Given the description of an element on the screen output the (x, y) to click on. 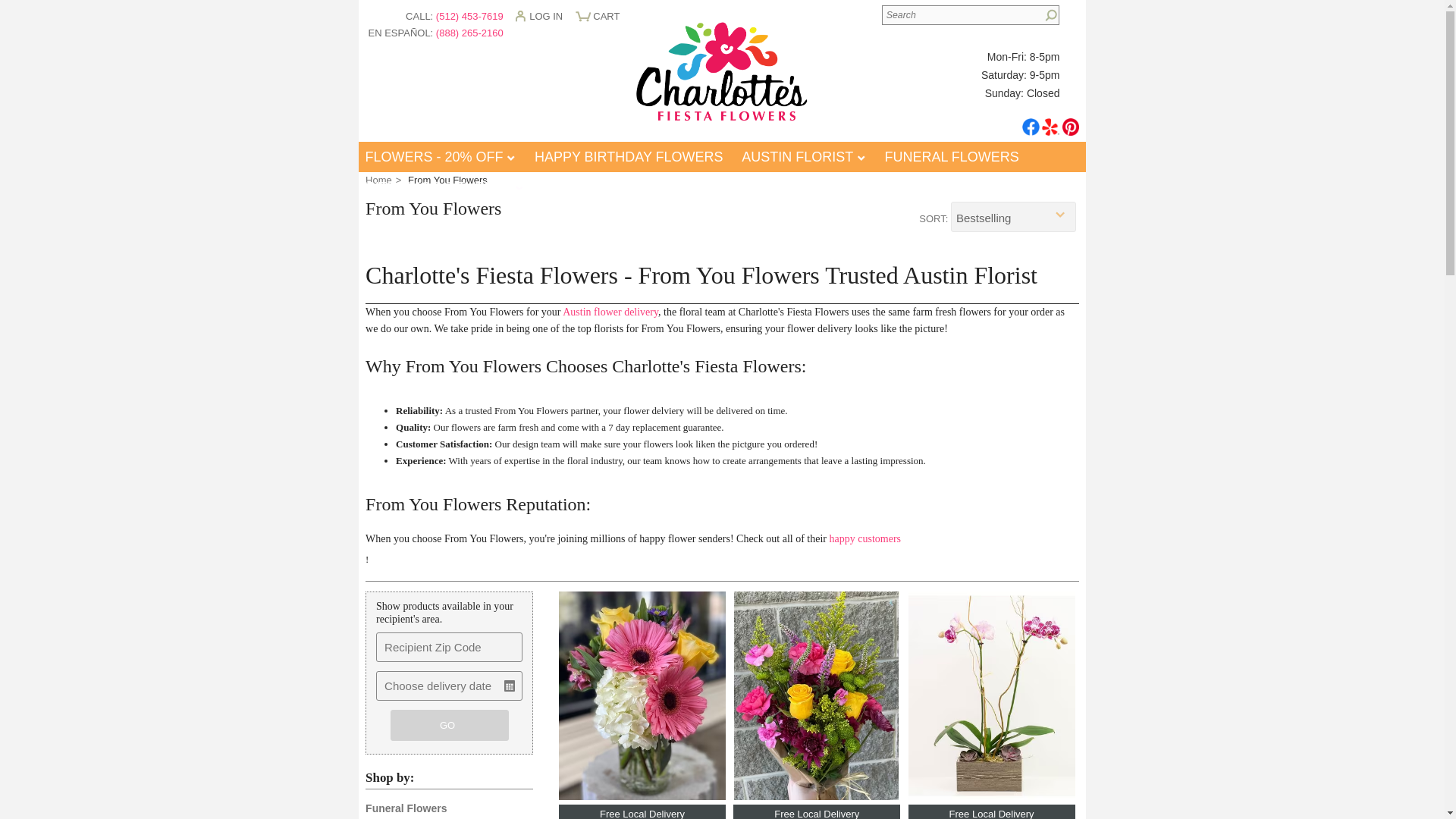
HAPPY BIRTHDAY FLOWERS (628, 156)
Search (970, 14)
log In (543, 19)
GO (449, 725)
Go (1047, 16)
AUSTIN FLORIST (803, 156)
LOG IN (543, 19)
Sort By (1013, 216)
